Given the description of an element on the screen output the (x, y) to click on. 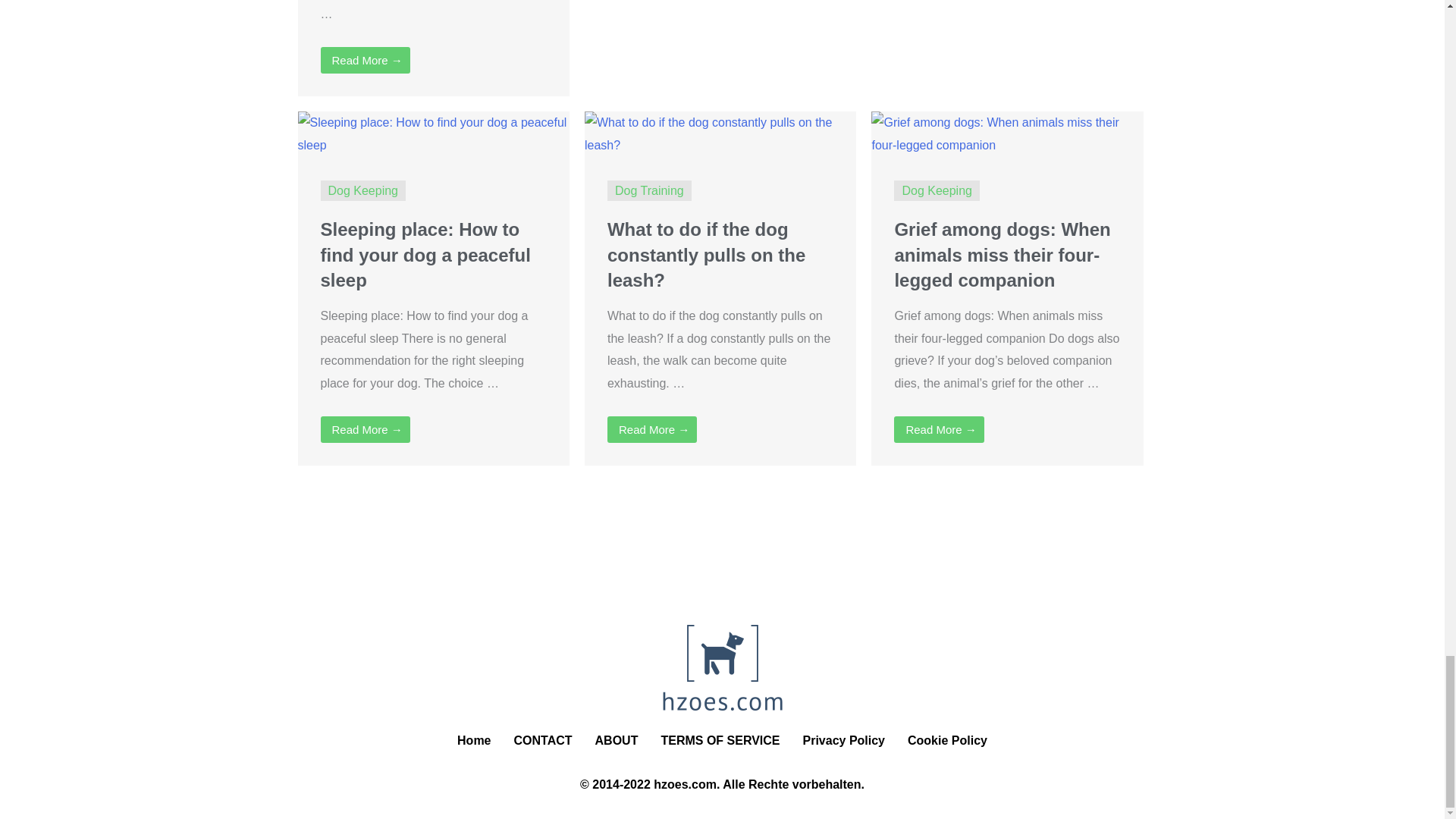
What to do if the dog constantly pulls on the leash? (720, 132)
CONTACT (542, 740)
Dog Keeping (362, 190)
ABOUT (616, 740)
Dog Keeping (936, 190)
TERMS OF SERVICE (719, 740)
Sleeping place: How to find your dog a peaceful sleep (433, 132)
What to do if the dog constantly pulls on the leash? (706, 254)
Dog Training (649, 190)
Sleeping place: How to find your dog a peaceful sleep (424, 254)
Home (473, 740)
